Given the description of an element on the screen output the (x, y) to click on. 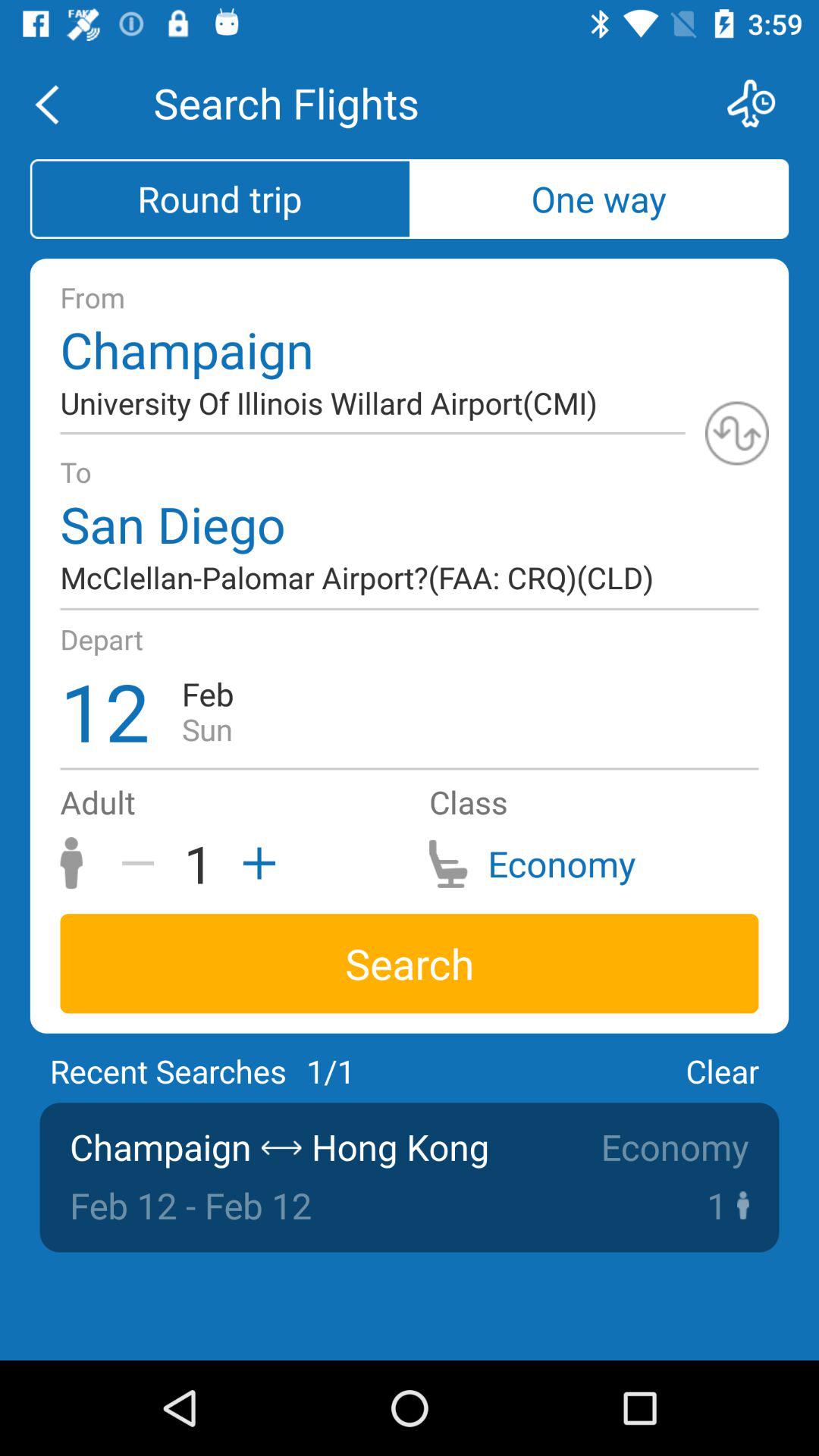
press the icon above search icon (143, 863)
